Given the description of an element on the screen output the (x, y) to click on. 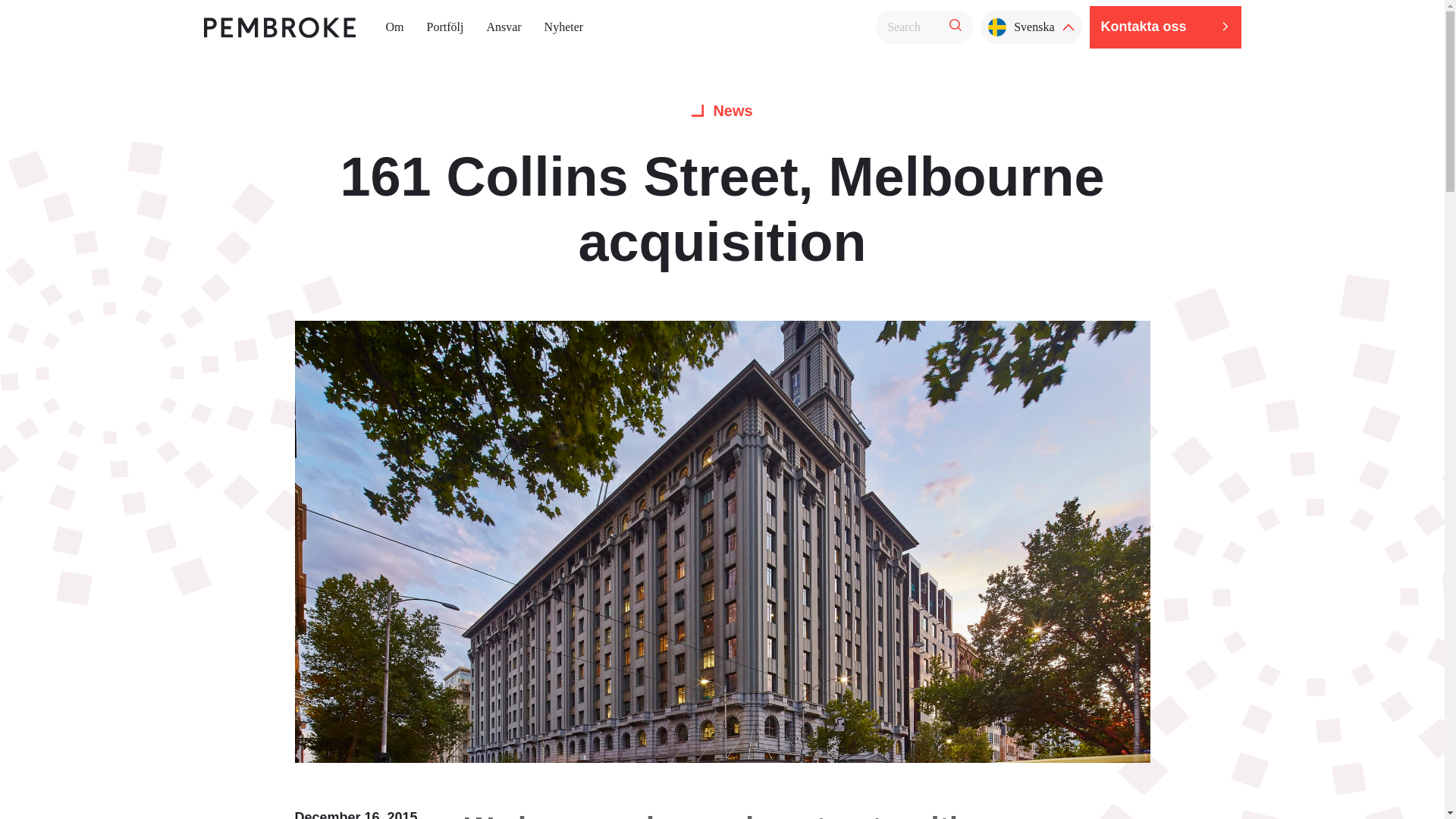
Nyheter (563, 27)
Pembroke (279, 26)
Kontakta oss (1164, 26)
Skip to content (26, 27)
